Given the description of an element on the screen output the (x, y) to click on. 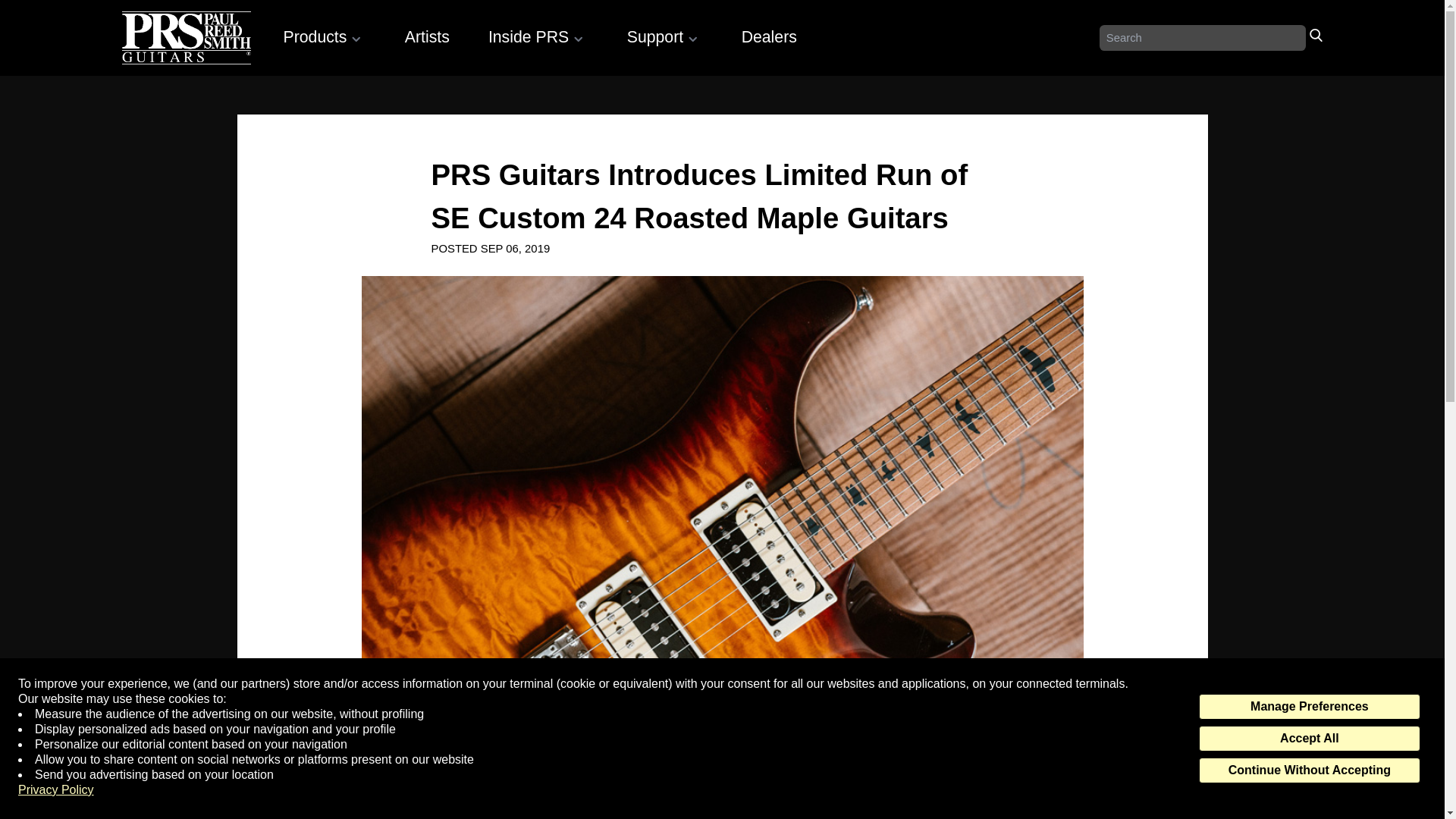
Privacy Policy (55, 789)
Products (324, 36)
Accept All (1309, 738)
Continue Without Accepting (1309, 769)
Manage Preferences (1309, 706)
